Given the description of an element on the screen output the (x, y) to click on. 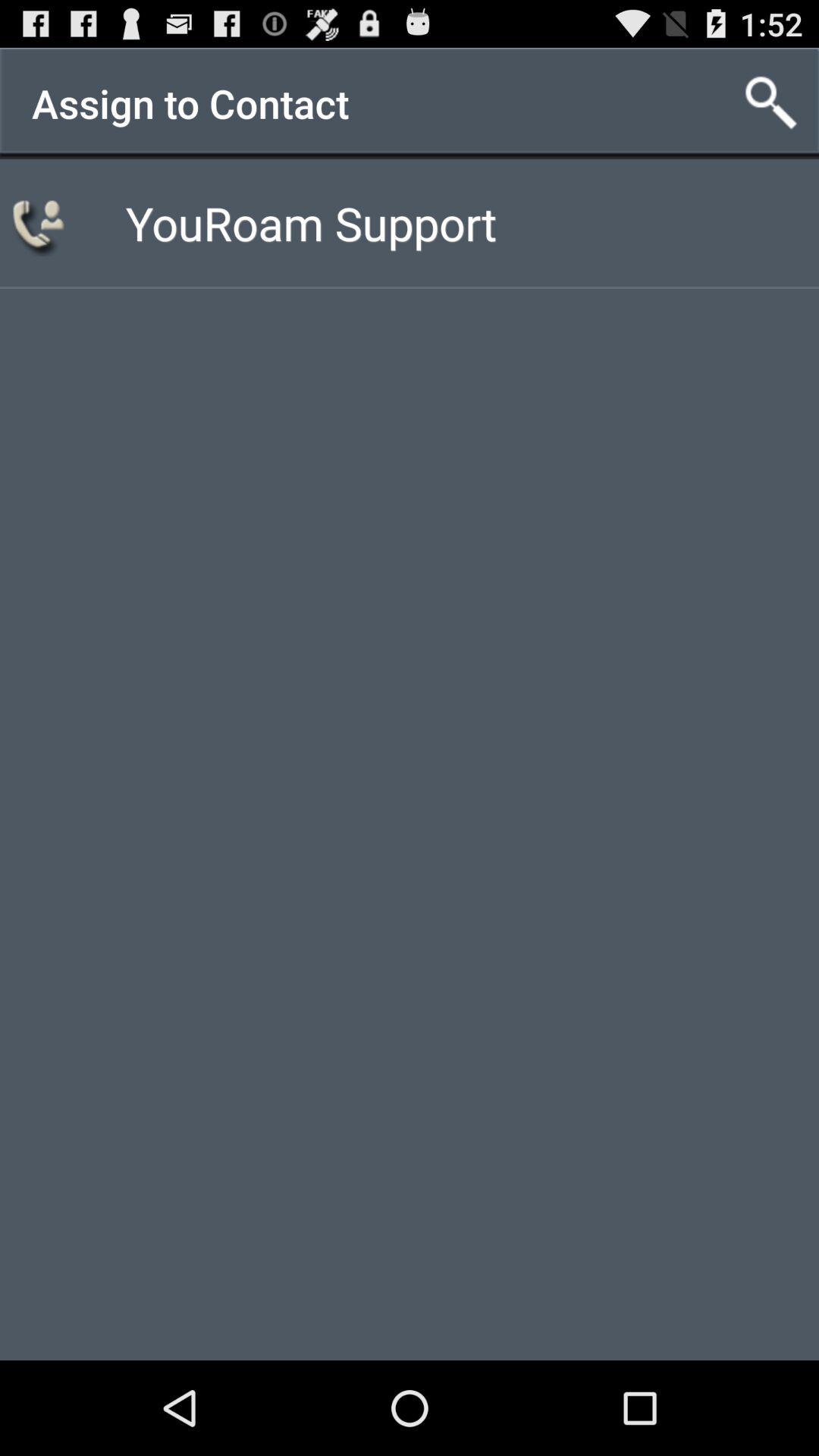
turn on youroam support icon (310, 222)
